Given the description of an element on the screen output the (x, y) to click on. 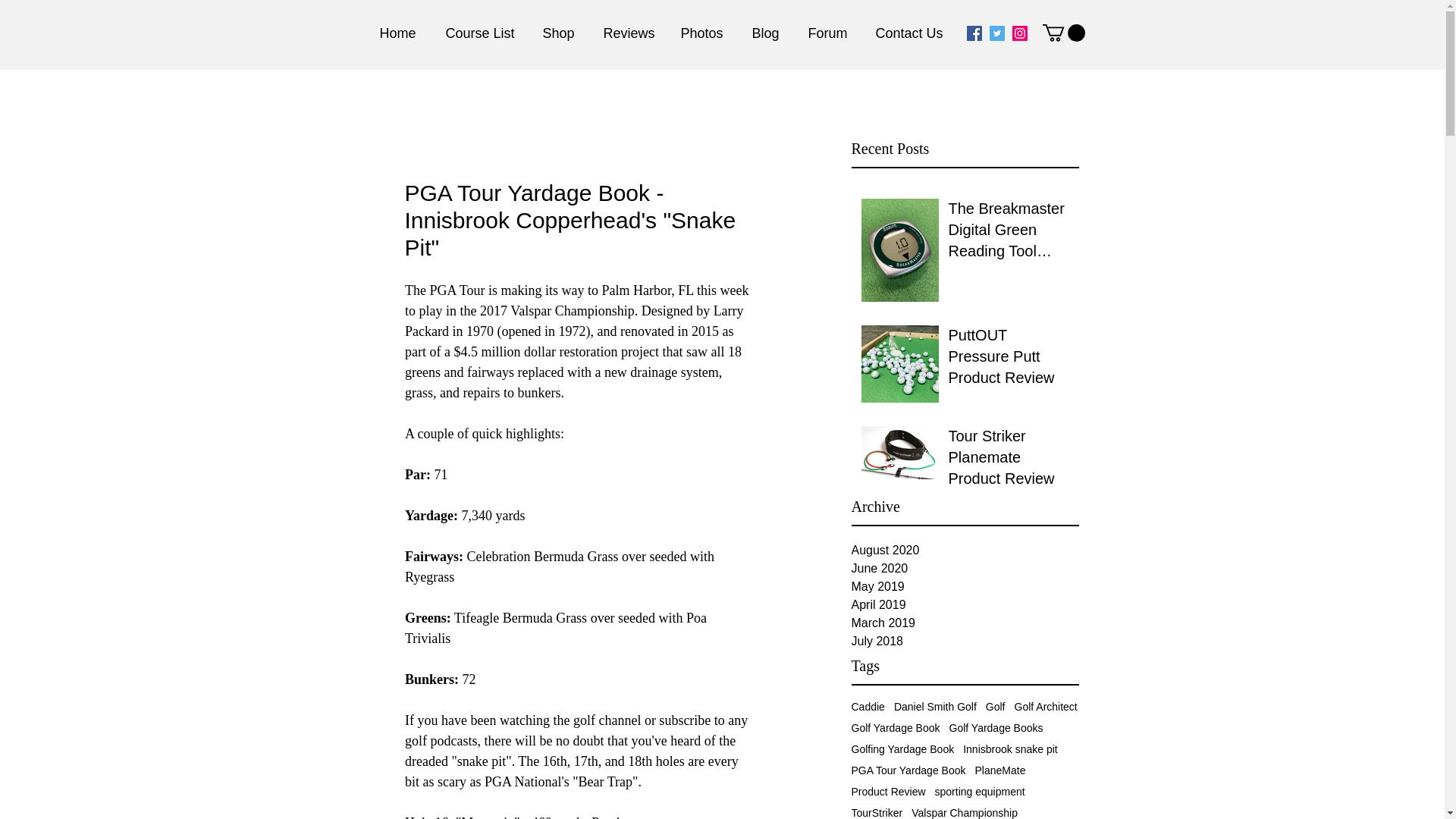
Caddie (866, 706)
Golf Yardage Book (894, 727)
July 2018 (964, 641)
Shop (565, 33)
Valspar Championship (964, 812)
The Breakmaster Digital Green Reading Tool Product Review (1007, 232)
Golf (995, 706)
June 2020 (964, 568)
PuttOUT Pressure Putt Product Review (1007, 358)
Golfing Yardage Book (901, 748)
